Given the description of an element on the screen output the (x, y) to click on. 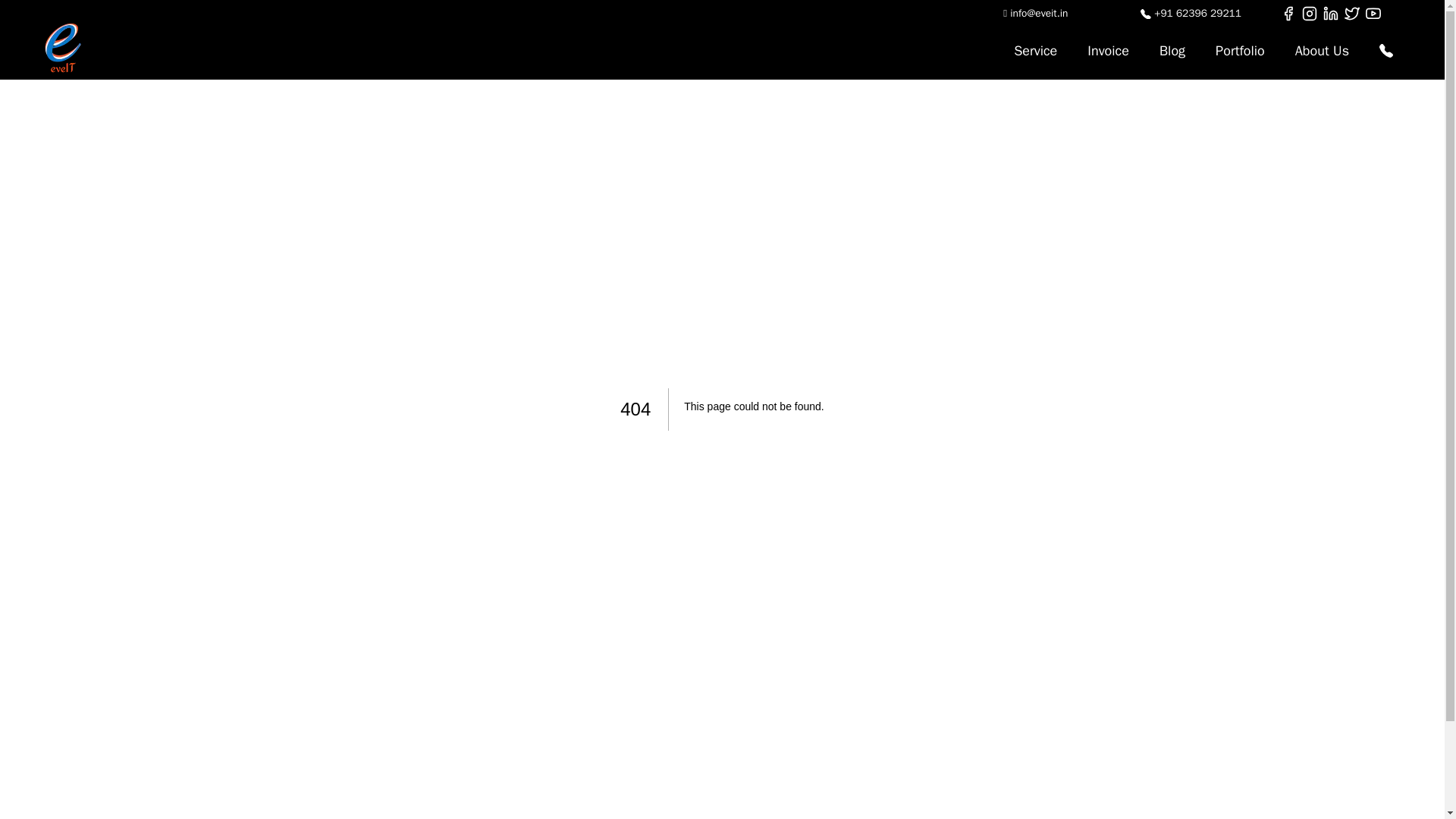
Blog (1171, 50)
Invoice (1107, 50)
Service (1034, 50)
About Us (1321, 50)
Portfolio (1239, 50)
